Given the description of an element on the screen output the (x, y) to click on. 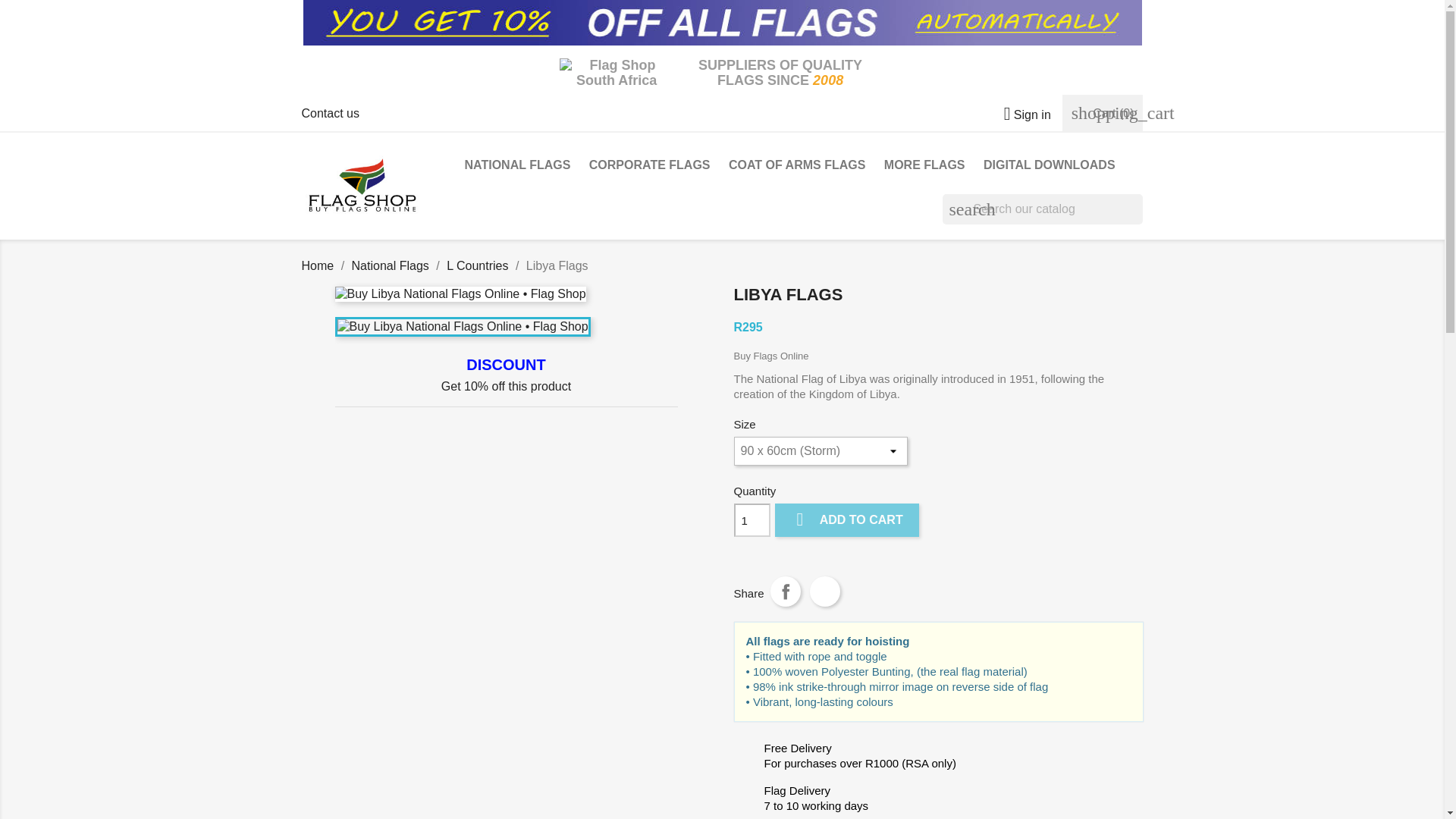
NATIONAL FLAGS (517, 166)
1 (751, 520)
COAT OF ARMS FLAGS (796, 166)
CORPORATE FLAGS (648, 166)
Log in to your customer account (1020, 114)
Share (785, 591)
Tweet (824, 591)
Contact us (330, 113)
